Given the description of an element on the screen output the (x, y) to click on. 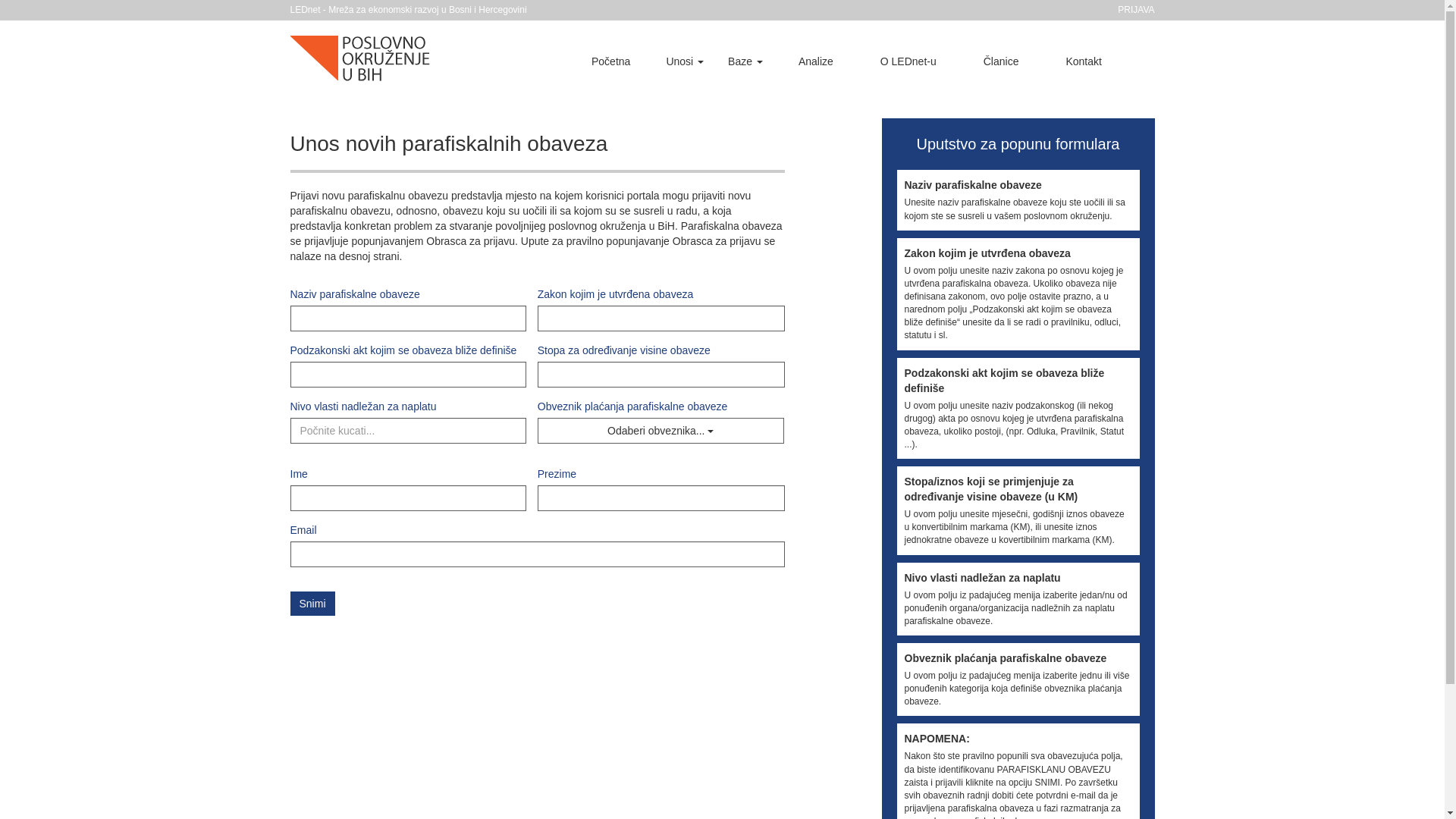
Analize Element type: text (815, 61)
Kontakt Element type: text (1083, 61)
Snimi Element type: text (311, 603)
PRIJAVA Element type: text (1135, 9)
Odaberi obveznika... Element type: text (660, 430)
Baze Element type: text (745, 61)
Unosi Element type: text (684, 61)
O LEDnet-u Element type: text (908, 61)
